Given the description of an element on the screen output the (x, y) to click on. 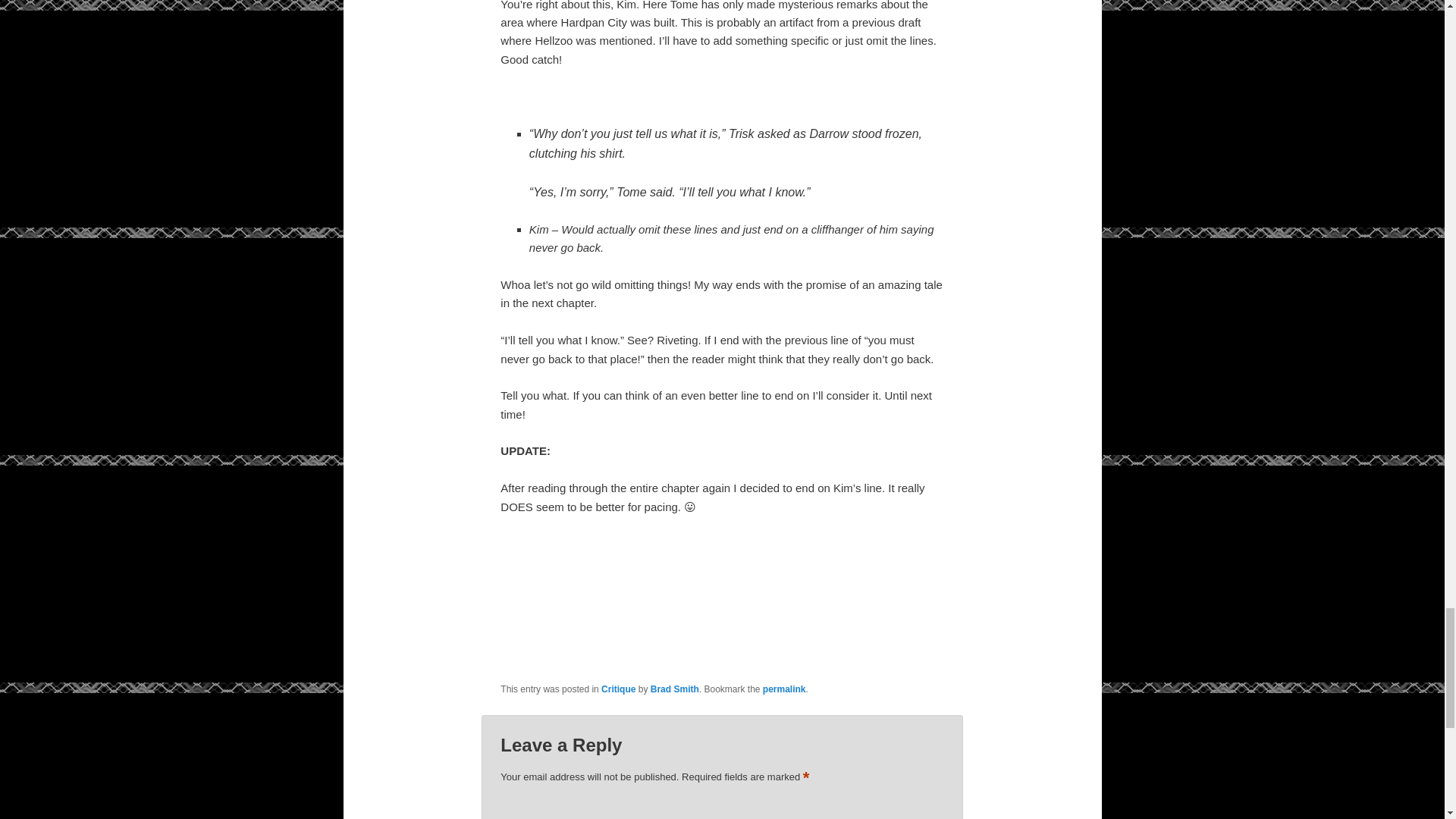
Brad Smith (674, 688)
Critique (617, 688)
permalink (784, 688)
Permalink to Kim Roasts Abandonment Party: Chapter 3 (784, 688)
